Given the description of an element on the screen output the (x, y) to click on. 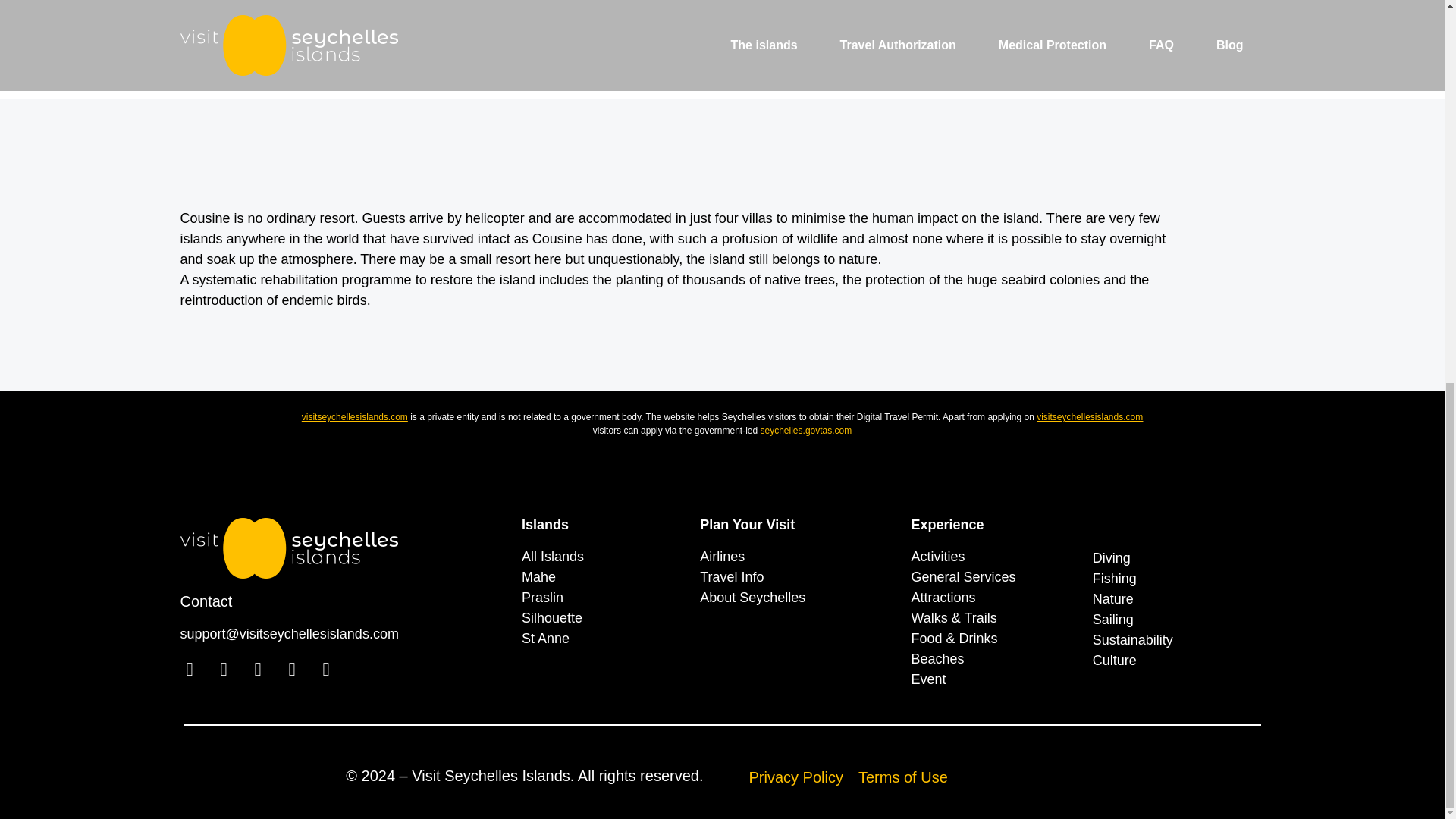
Mahe (602, 577)
Cousine Island seychelles (722, 49)
seychelles.govtas.com (805, 430)
Terms of Use (903, 776)
All Islands (602, 557)
visitseychellesislands.com (354, 416)
Praslin (602, 598)
Silhouette (602, 618)
Privacy Policy (796, 776)
St Anne (602, 638)
